Given the description of an element on the screen output the (x, y) to click on. 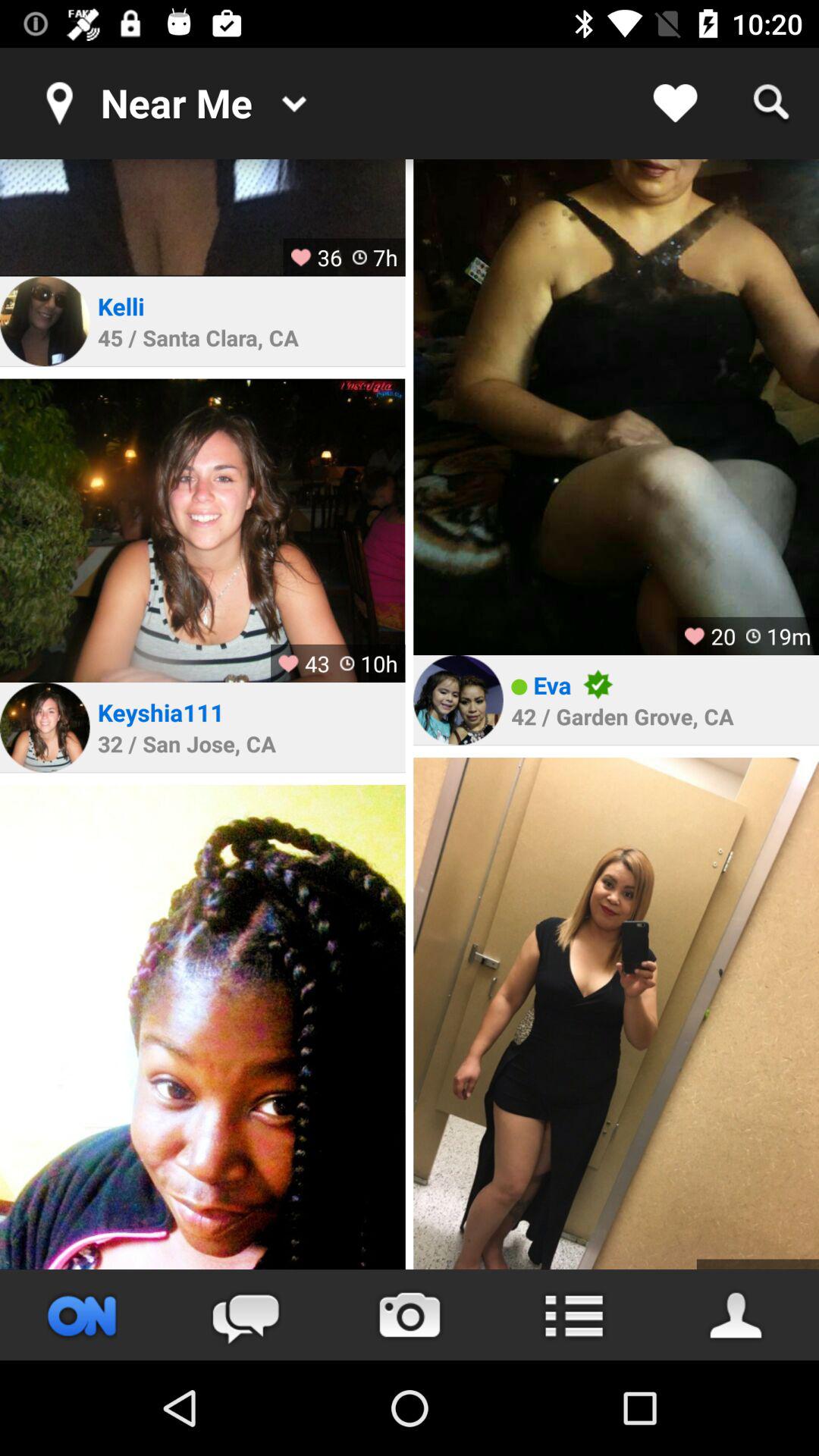
link to go to profile page (458, 700)
